Given the description of an element on the screen output the (x, y) to click on. 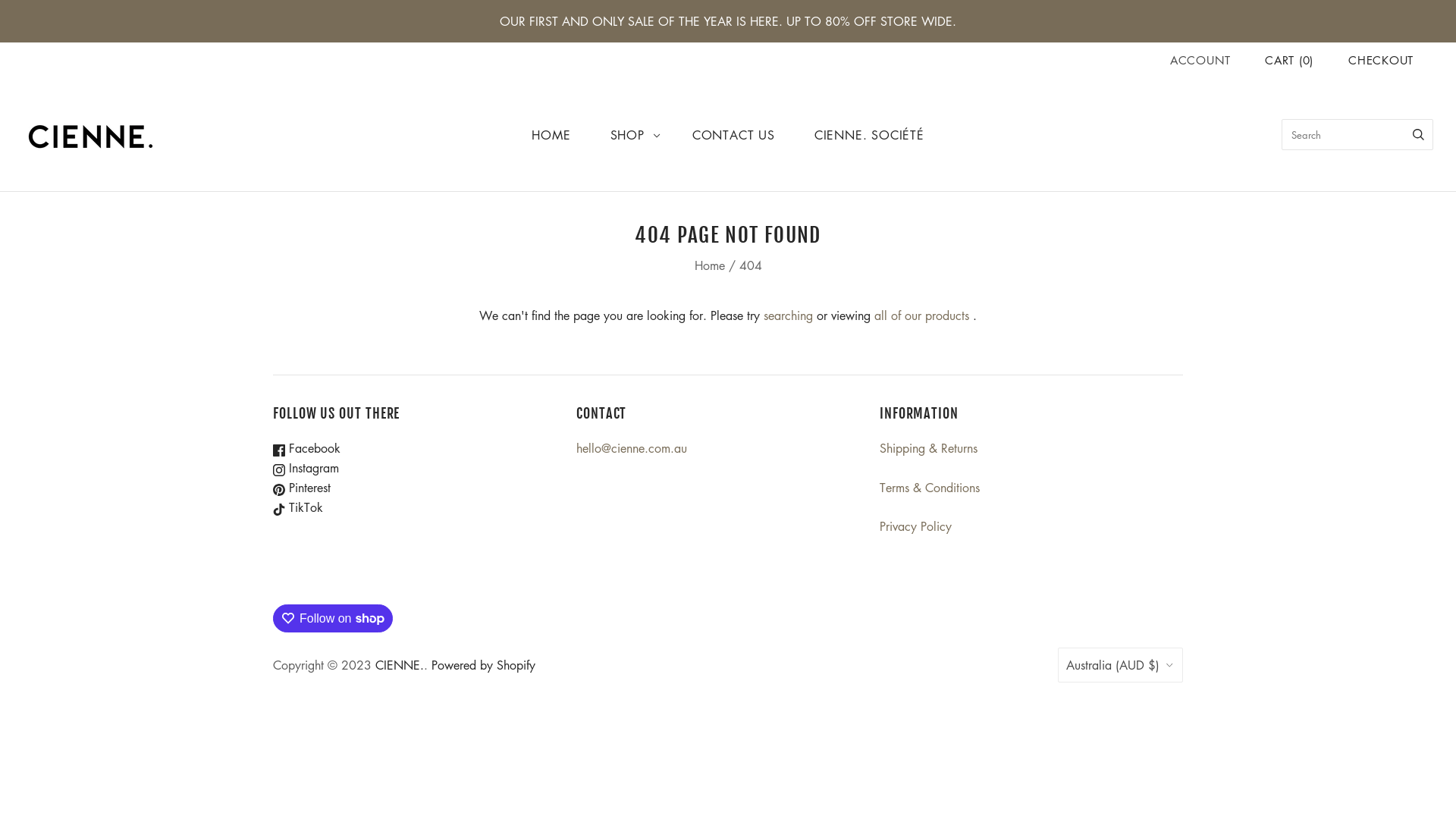
CHECKOUT Element type: text (1380, 59)
ACCOUNT Element type: text (1200, 59)
all of our products Element type: text (921, 315)
Australia (AUD $) Element type: text (1120, 664)
searching Element type: text (787, 315)
Privacy Policy Element type: text (915, 525)
CIENNE. Element type: text (399, 664)
Instagram Element type: text (305, 467)
CART (0) Element type: text (1288, 59)
hello@cienne.com.au Element type: text (631, 447)
Shipping & Returns Element type: text (928, 447)
Terms & Conditions Element type: text (929, 487)
TikTok Element type: text (298, 506)
HOME Element type: text (550, 134)
Home Element type: text (709, 265)
Powered by Shopify Element type: text (483, 664)
Pinterest Element type: text (301, 487)
CONTACT US Element type: text (733, 134)
Facebook Element type: text (306, 447)
